Given the description of an element on the screen output the (x, y) to click on. 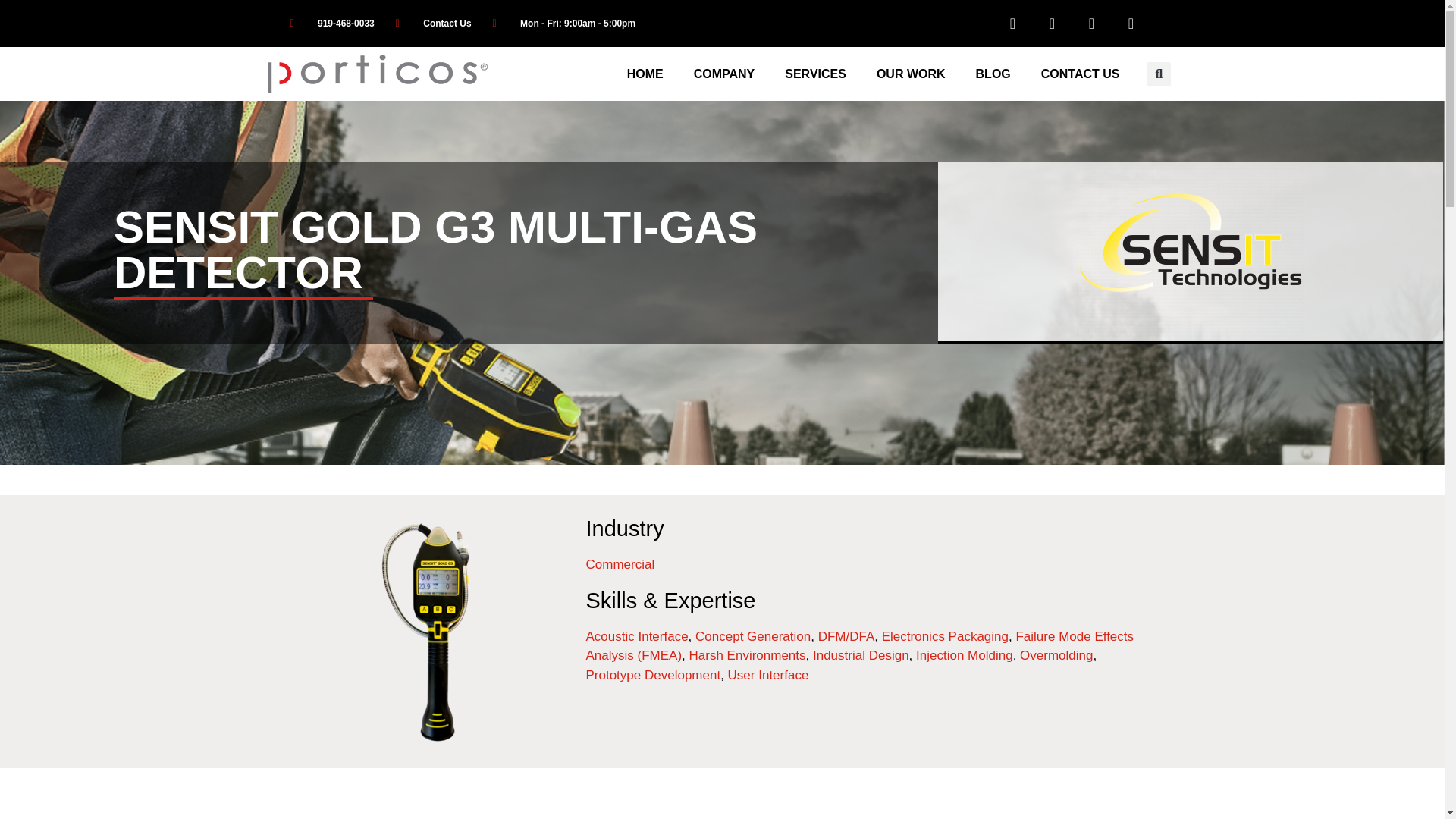
COMPANY (724, 73)
Contact Us (433, 23)
OUR WORK (910, 73)
HOME (644, 73)
CONTACT US (1080, 73)
SERVICES (815, 73)
BLOG (993, 73)
919-468-0033 (331, 23)
